Given the description of an element on the screen output the (x, y) to click on. 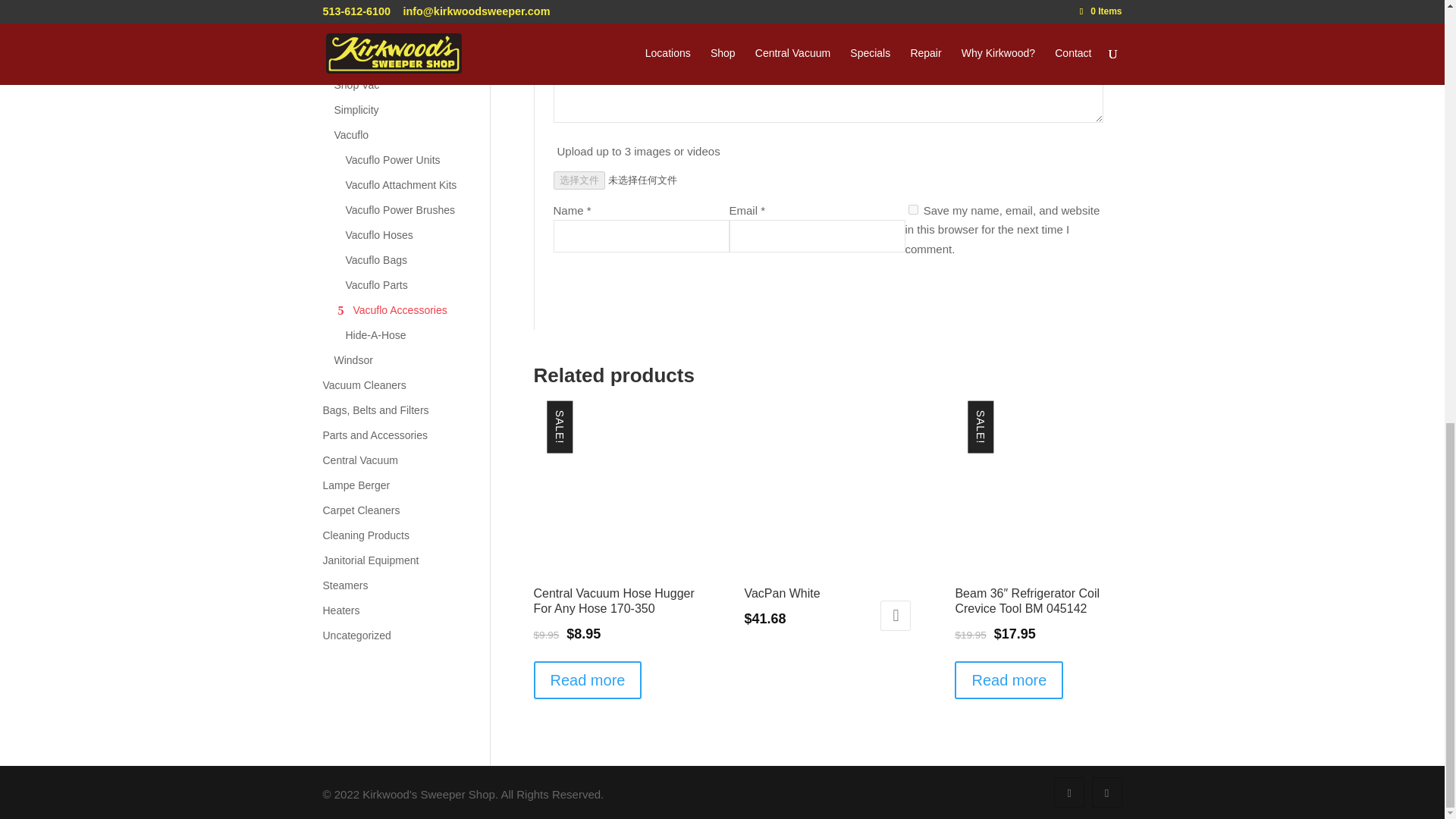
Add to cart (895, 615)
Read more (1008, 679)
Submit (1063, 292)
Submit (1063, 292)
Read more (588, 679)
yes (913, 209)
